Given the description of an element on the screen output the (x, y) to click on. 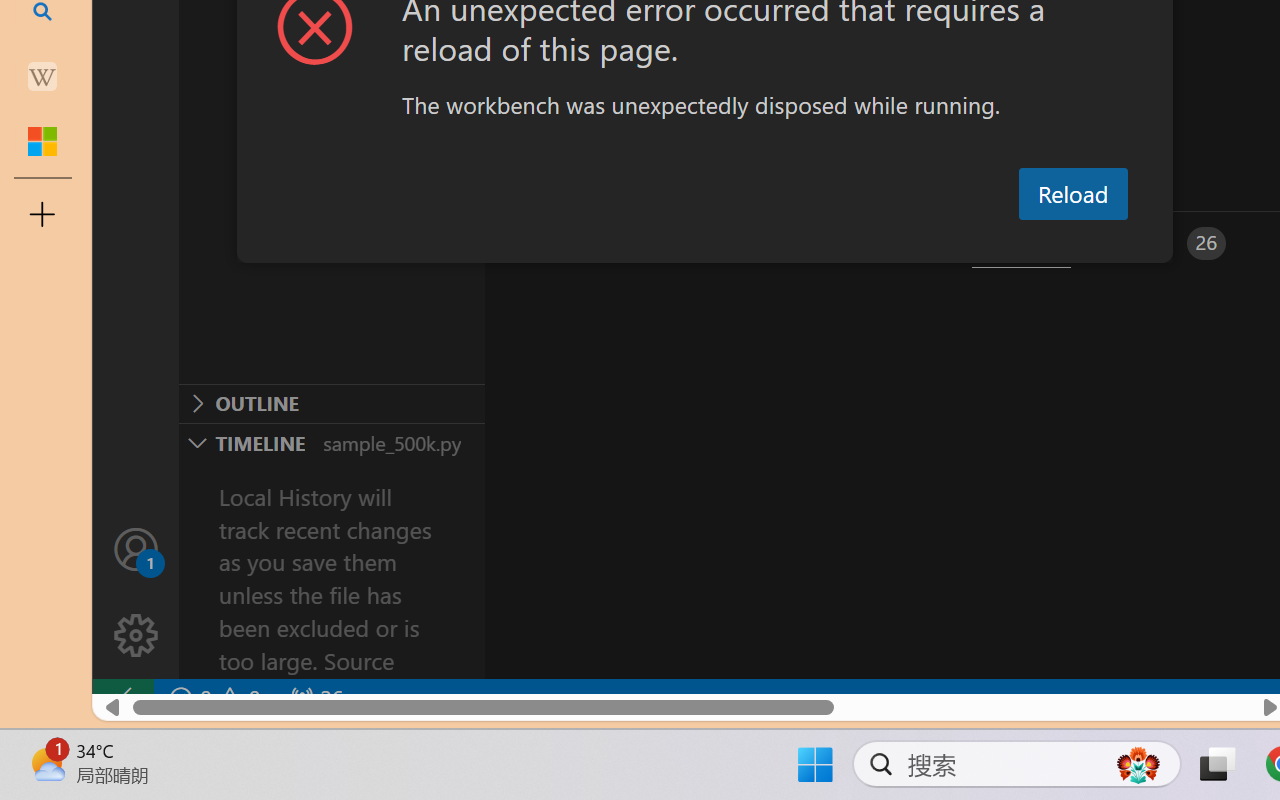
Timeline Section (331, 442)
Outline Section (331, 403)
Problems (Ctrl+Shift+M) (567, 243)
Terminal (Ctrl+`) (1021, 243)
remote (122, 698)
